Given the description of an element on the screen output the (x, y) to click on. 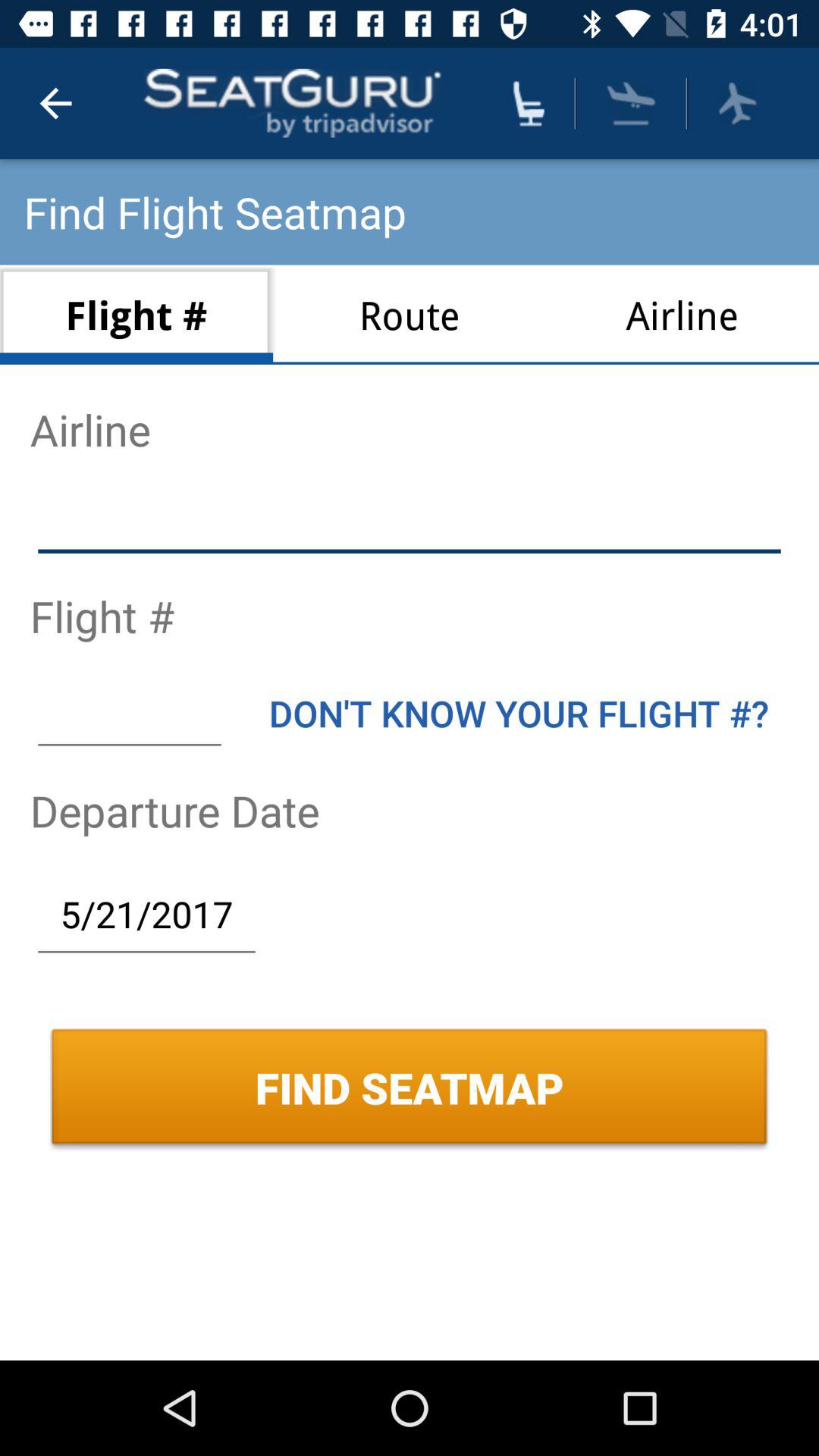
open the item above airline icon (737, 103)
